Given the description of an element on the screen output the (x, y) to click on. 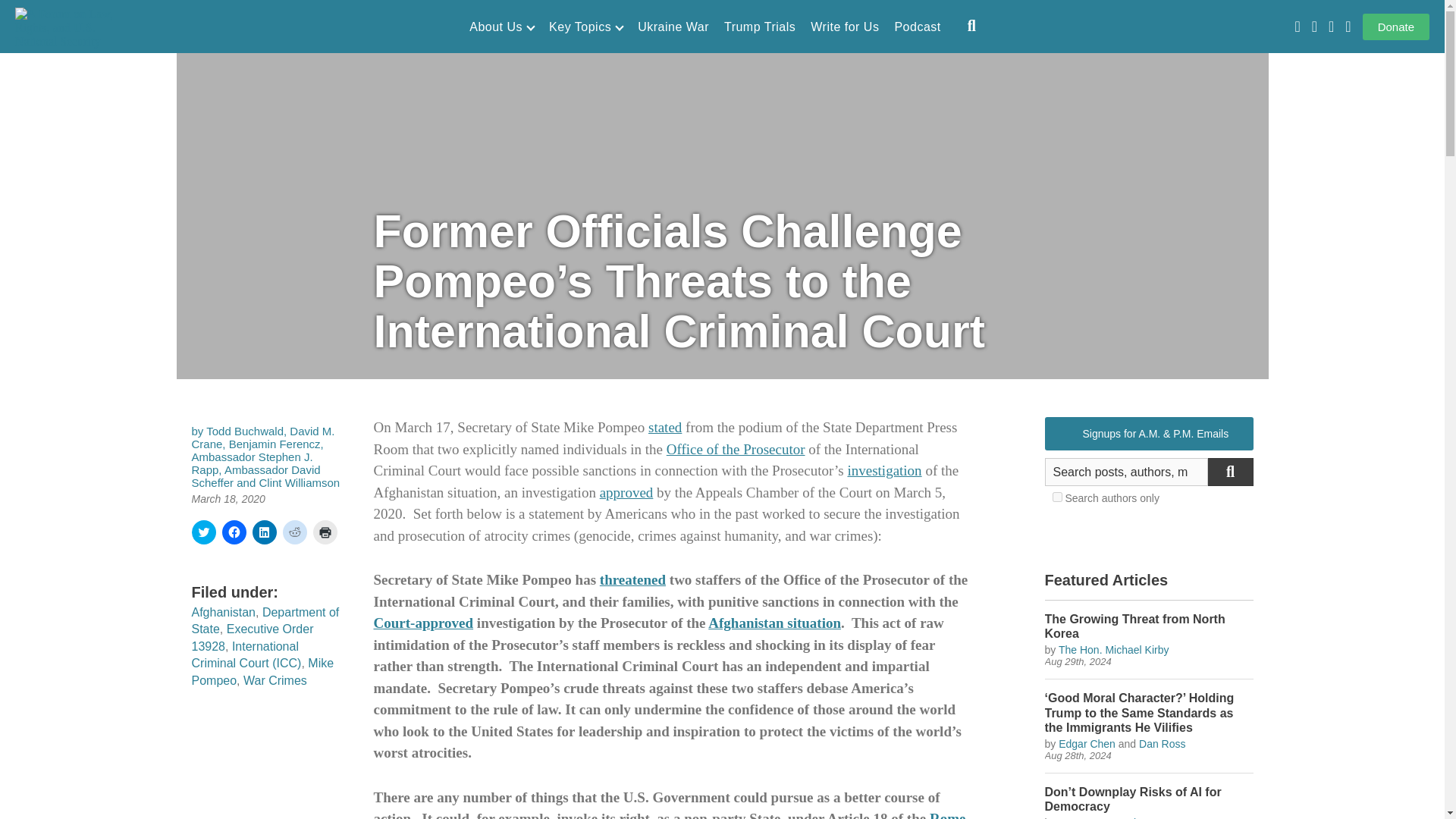
Podcast (916, 27)
Key Topics (585, 27)
Ukraine War (673, 27)
Profile and articles by Clint Williamson (299, 481)
Profile and articles by Benjamin Ferencz (274, 443)
on (1057, 497)
Click to share on Reddit (293, 532)
Click to share on Facebook (233, 532)
About Us (501, 27)
Profile and articles by Todd Buchwald (244, 431)
